Given the description of an element on the screen output the (x, y) to click on. 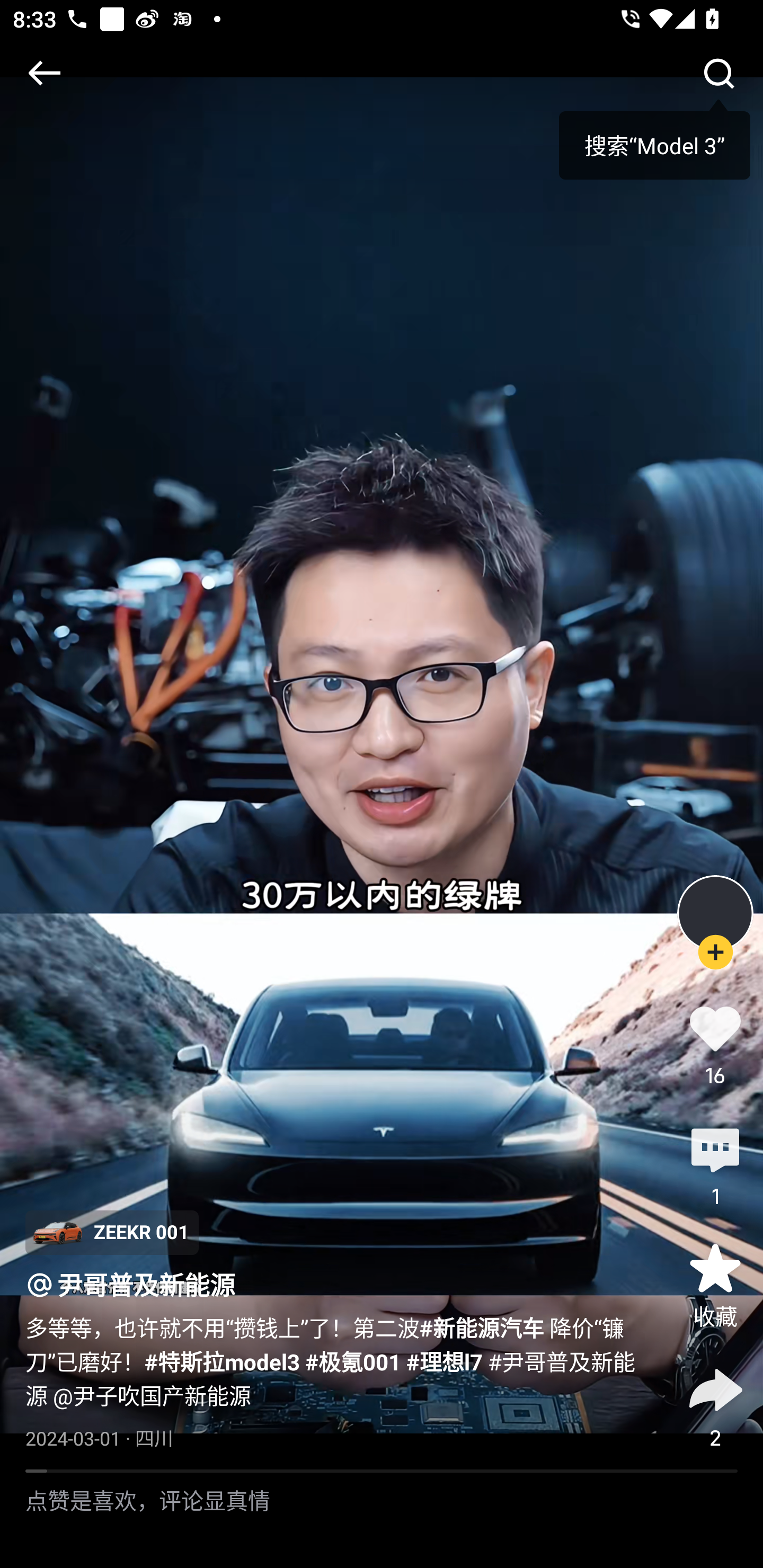
 (44, 72)
 (718, 72)
搜索“Model 3” (654, 139)
1 (715, 1164)
ZEEKR 001 (111, 1232)
收藏 (715, 1284)
尹哥普及新能源 (146, 1284)
2 (715, 1405)
点赞是喜欢，评论显真情 (381, 1520)
